Given the description of an element on the screen output the (x, y) to click on. 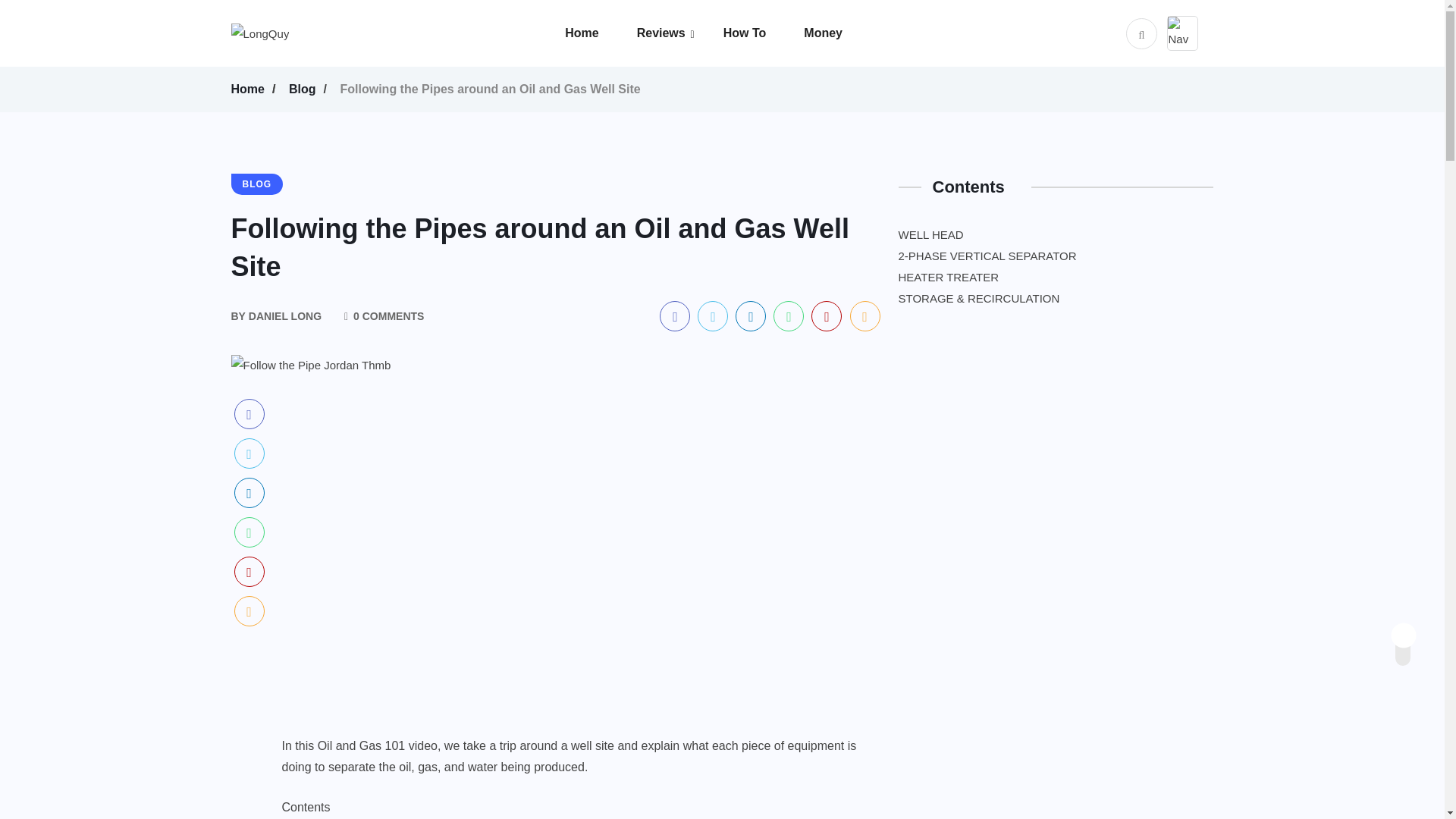
Home (600, 32)
Software Reviews (732, 73)
Home (249, 88)
on (1415, 631)
How To (764, 32)
BLOG (256, 183)
Reviews (680, 32)
Following the Pipes around an Oil and Gas Well Site 1 (310, 364)
Blog (304, 88)
Money (841, 32)
